Given the description of an element on the screen output the (x, y) to click on. 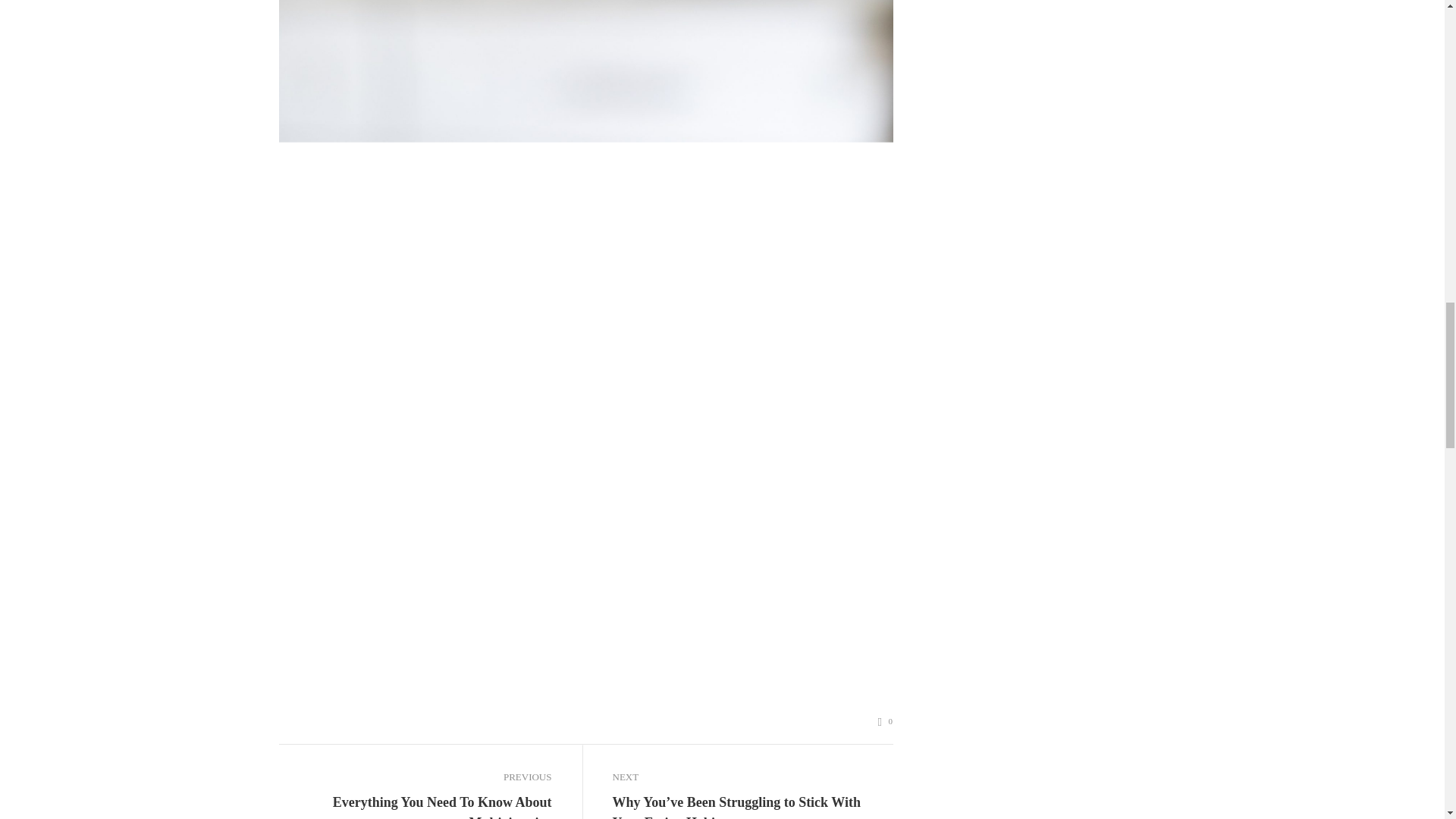
PREVIOUS (415, 777)
0 Comments (885, 721)
NEXT (748, 777)
0 (885, 721)
Everything You Need To Know About Multivitamins (415, 805)
